Given the description of an element on the screen output the (x, y) to click on. 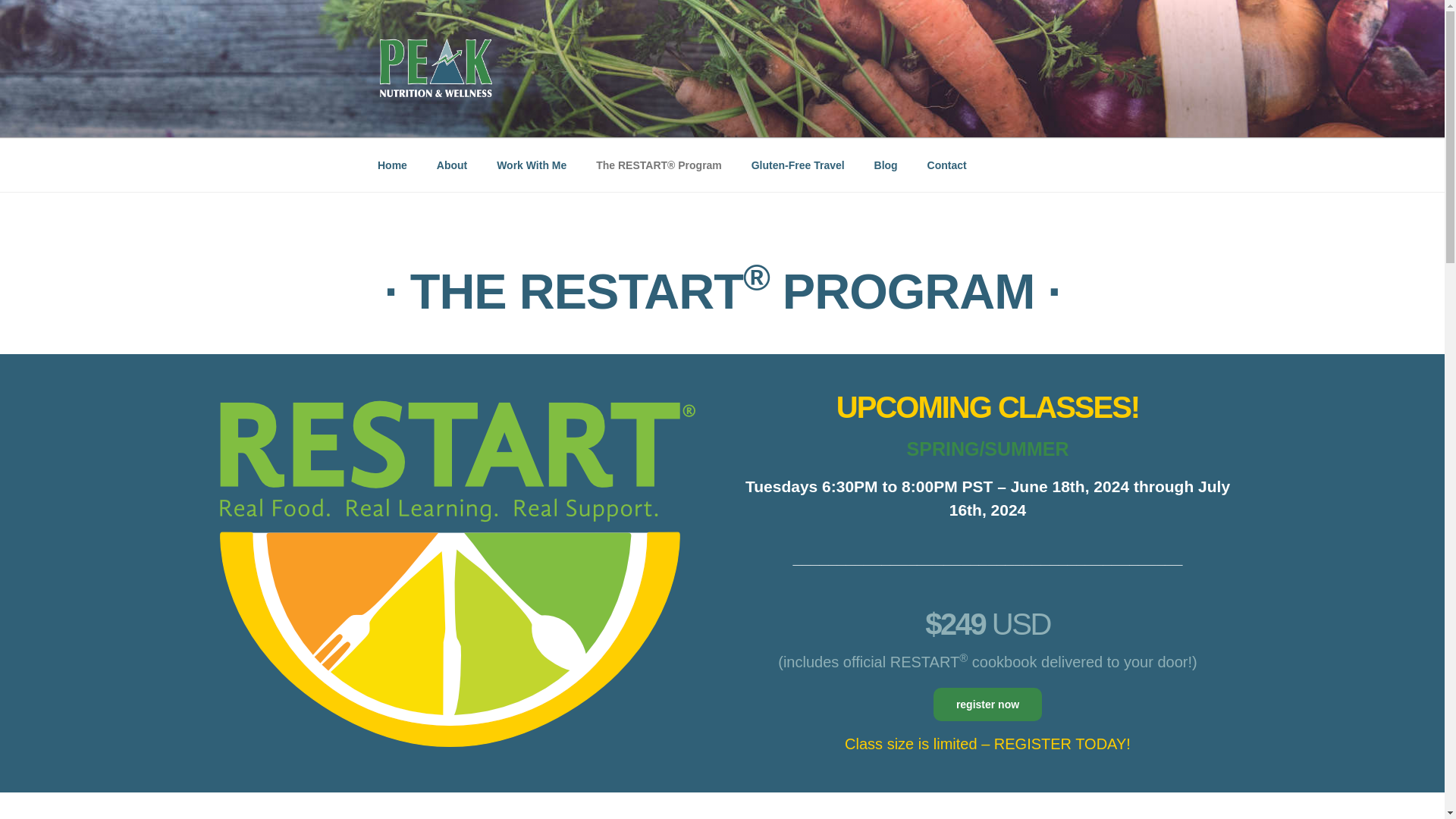
Home (392, 165)
register now (987, 704)
About (451, 165)
Gluten-Free Travel (797, 165)
Contact (946, 165)
Work With Me (531, 165)
Blog (885, 165)
